Given the description of an element on the screen output the (x, y) to click on. 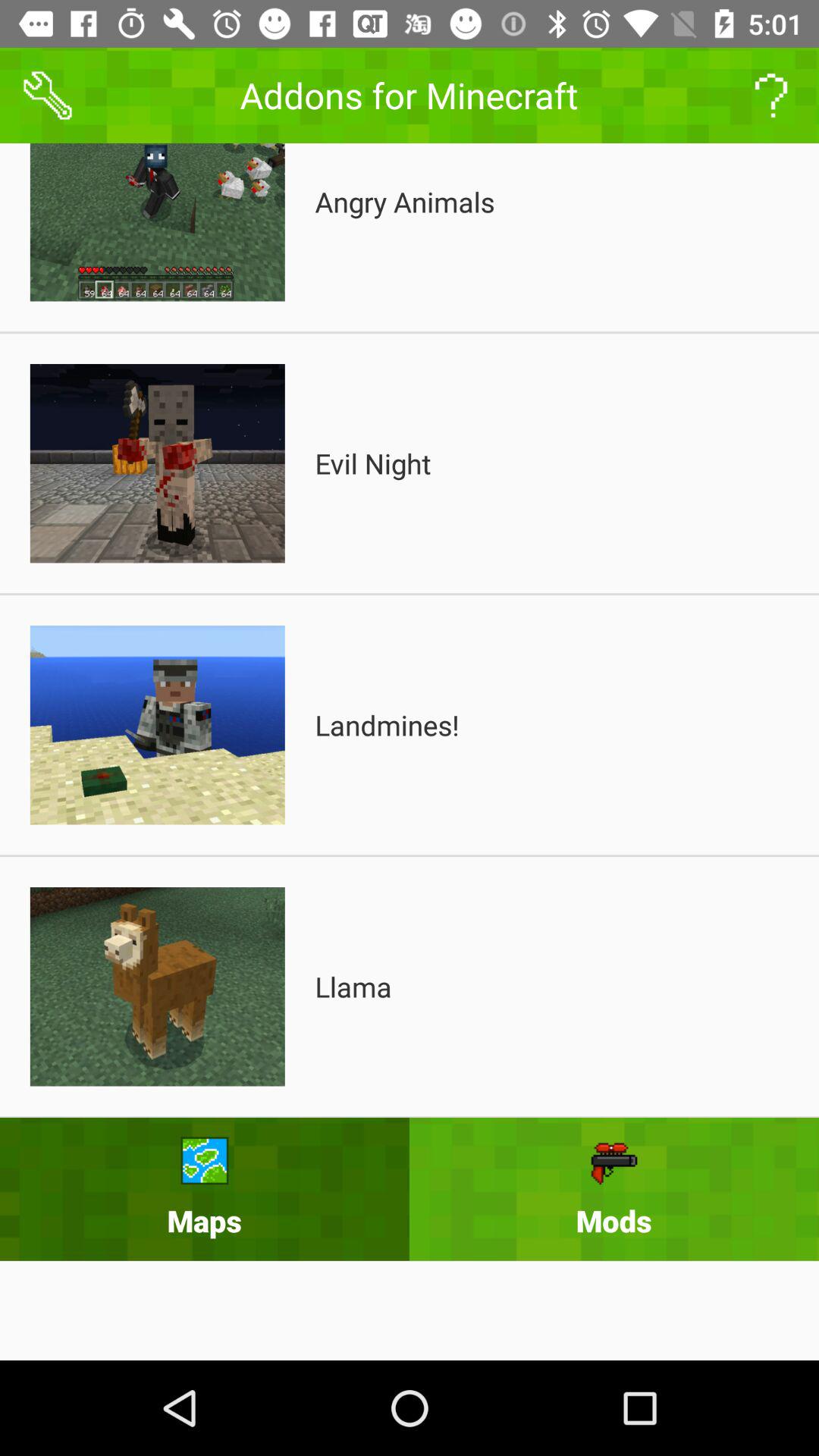
press the icon below the angry animals item (373, 463)
